Given the description of an element on the screen output the (x, y) to click on. 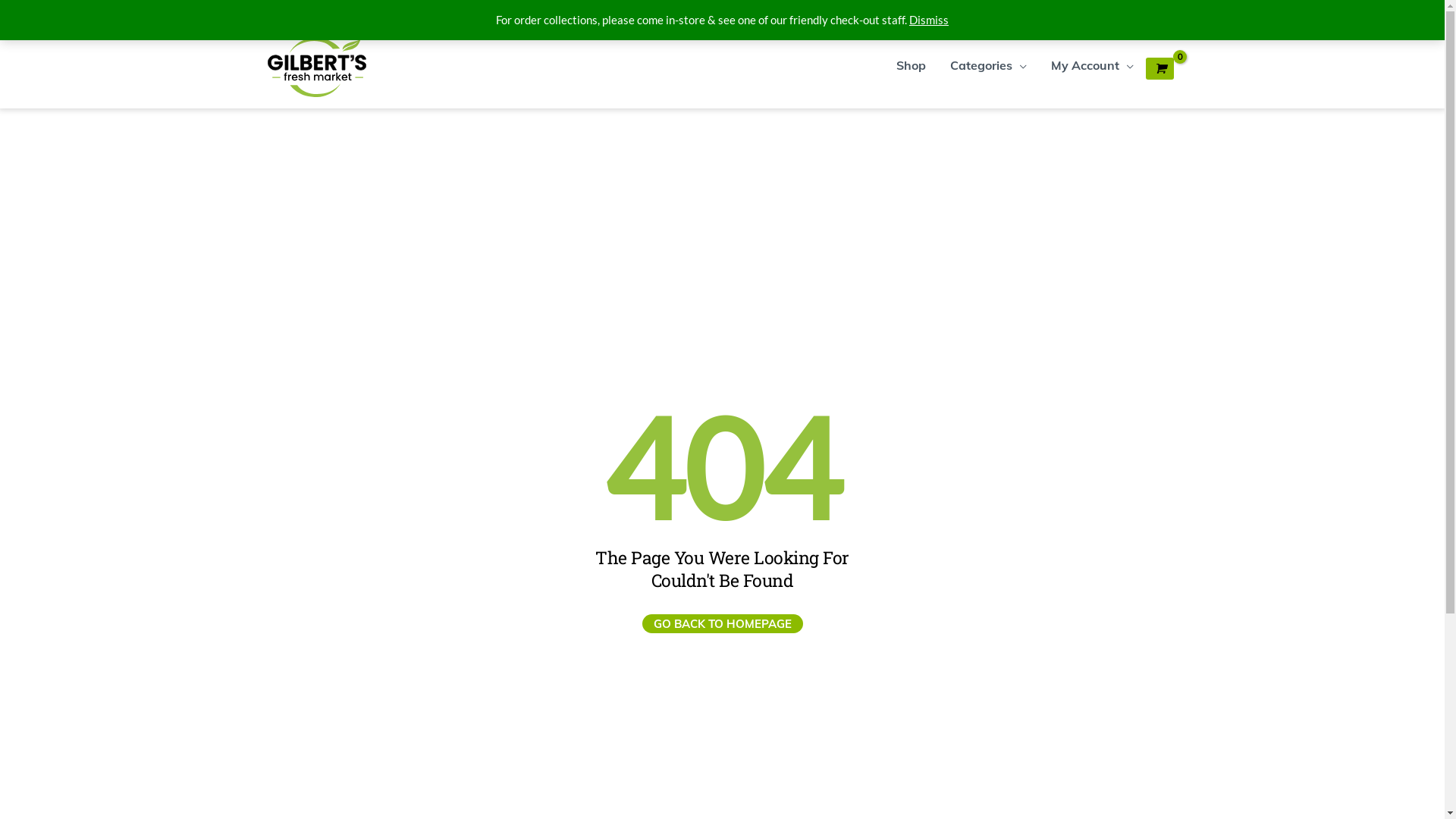
(08) 9313 7775 Element type: text (1108, 12)
My Account Element type: text (1091, 64)
Dismiss Element type: text (928, 19)
GO BACK TO HOMEPAGE Element type: text (721, 623)
Shop Element type: text (911, 64)
Categories Element type: text (987, 64)
Back to Gilbert's Fresh Markets Element type: text (403, 12)
